Given the description of an element on the screen output the (x, y) to click on. 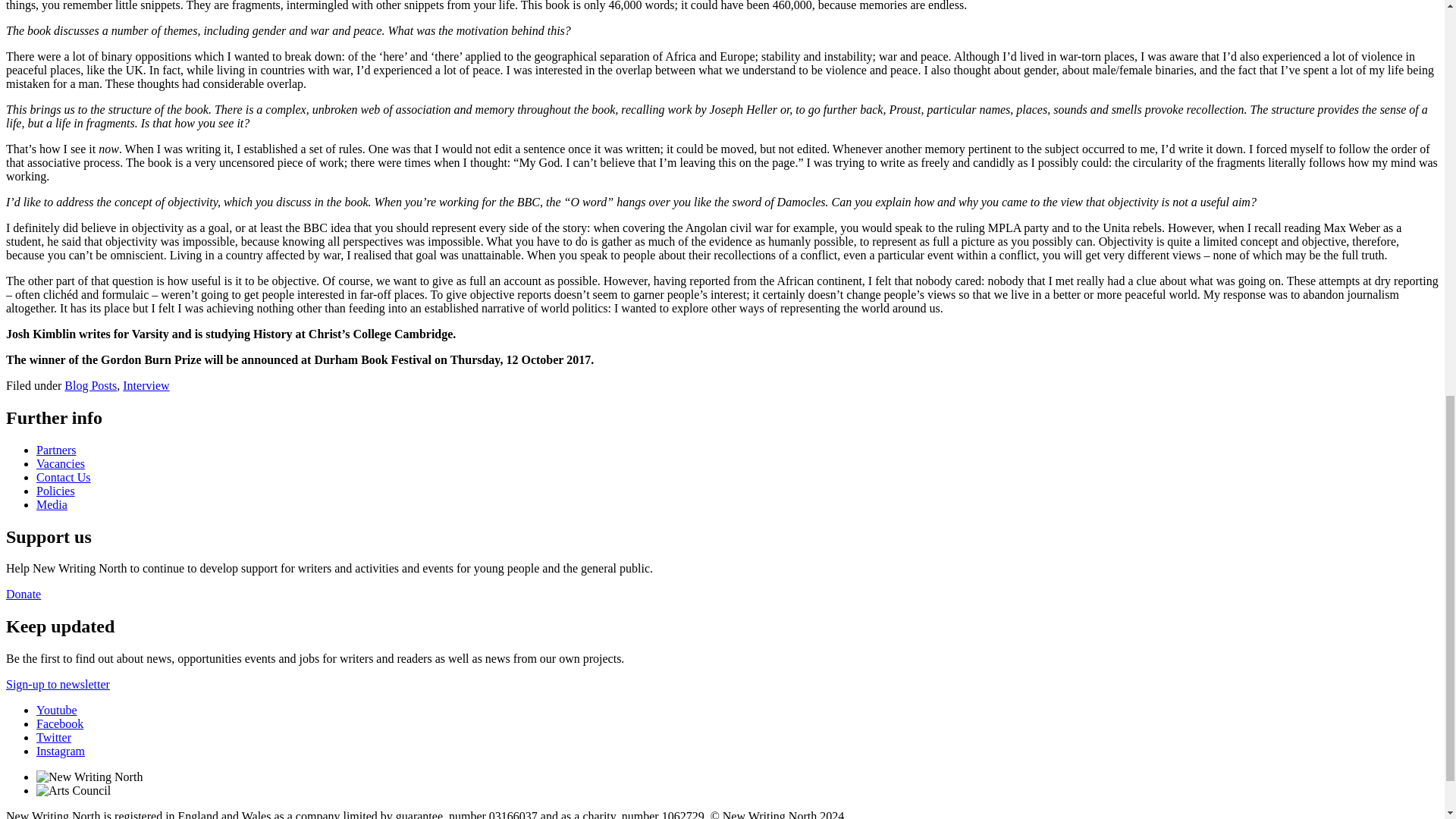
Partners (55, 449)
Interview (145, 385)
Blog Posts (90, 385)
Vacancies (60, 463)
